Given the description of an element on the screen output the (x, y) to click on. 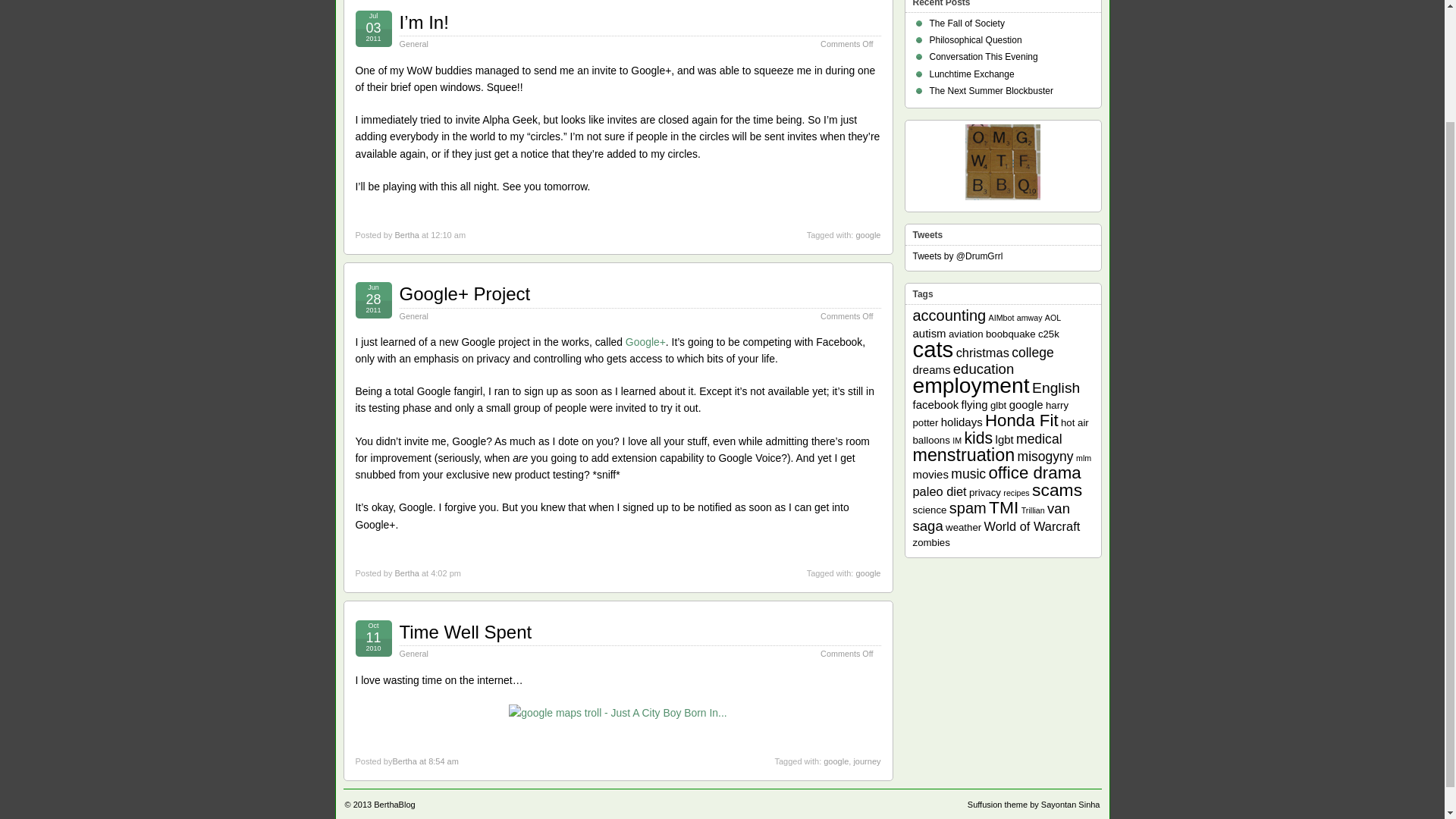
General (413, 316)
aviation (966, 333)
General (413, 43)
General (413, 653)
c25k (1048, 333)
Time Well Spent (464, 631)
autism (929, 332)
google (868, 234)
AOL (1053, 317)
christmas (982, 352)
Philosophical Question (976, 40)
Lunchtime Exchange (972, 73)
google (836, 760)
cats (932, 348)
Time Well Spent (464, 631)
